Given the description of an element on the screen output the (x, y) to click on. 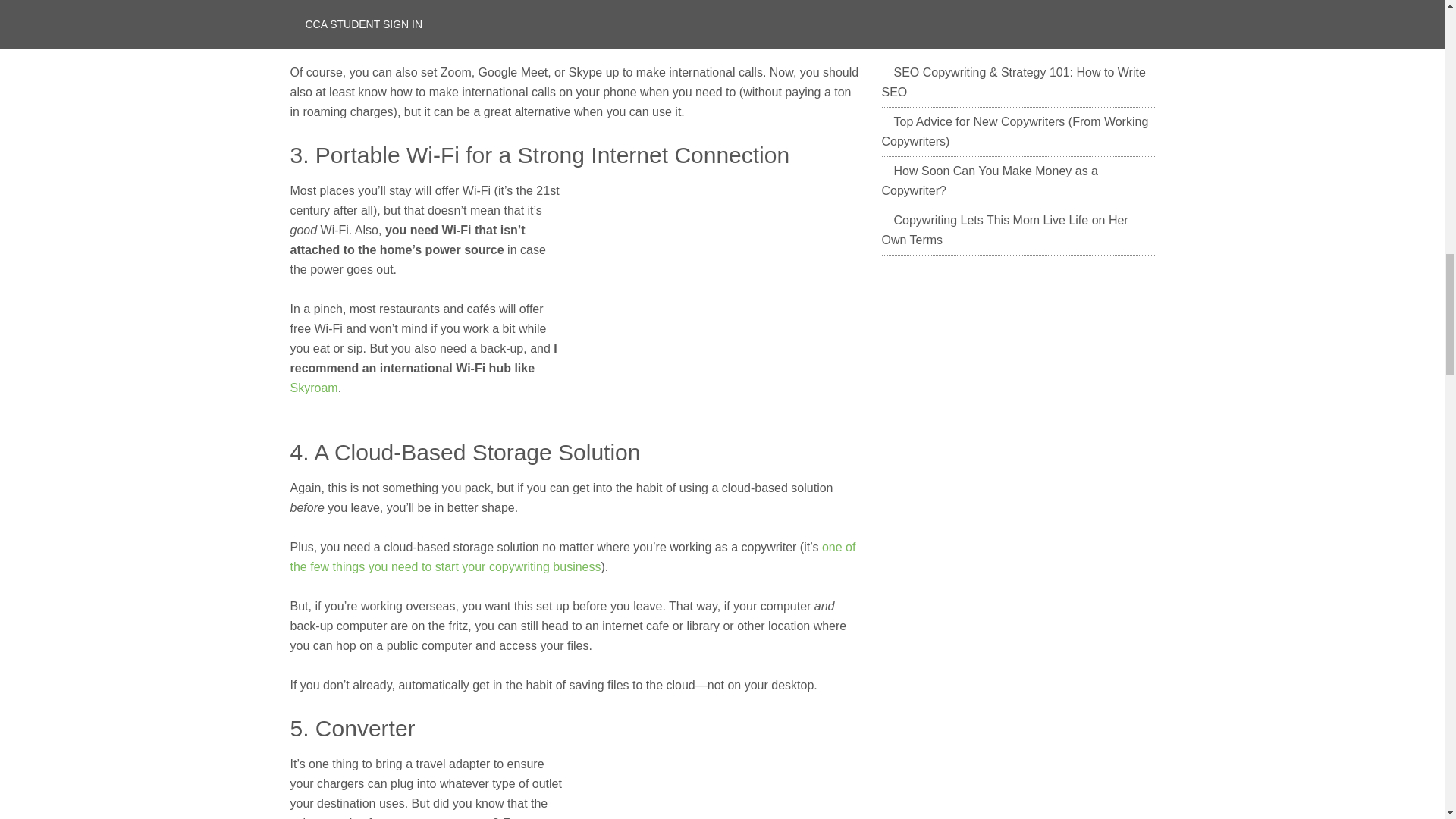
Skyroam (313, 387)
